Given the description of an element on the screen output the (x, y) to click on. 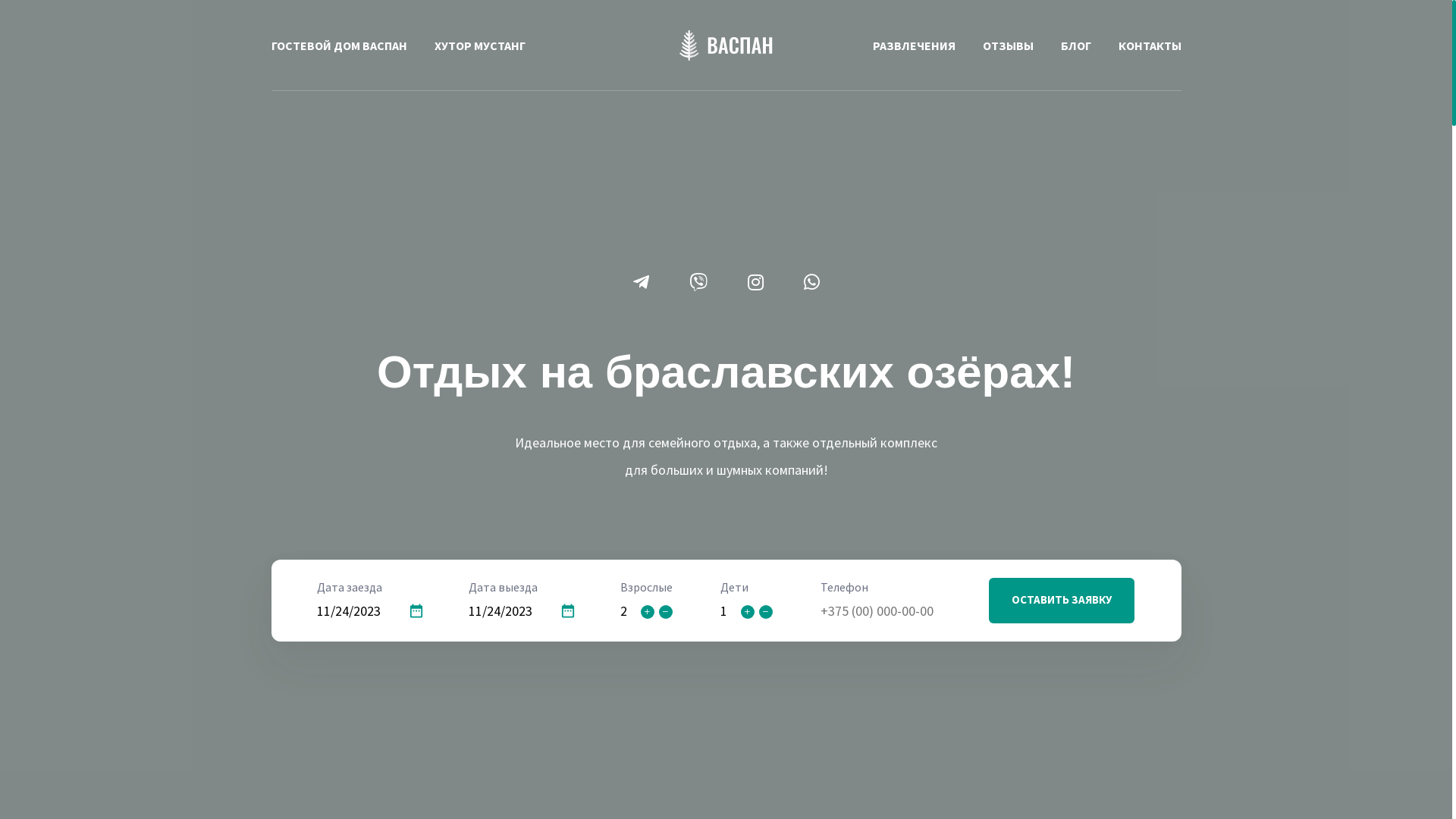
Select date Element type: hover (416, 610)
Select date Element type: hover (567, 610)
